Given the description of an element on the screen output the (x, y) to click on. 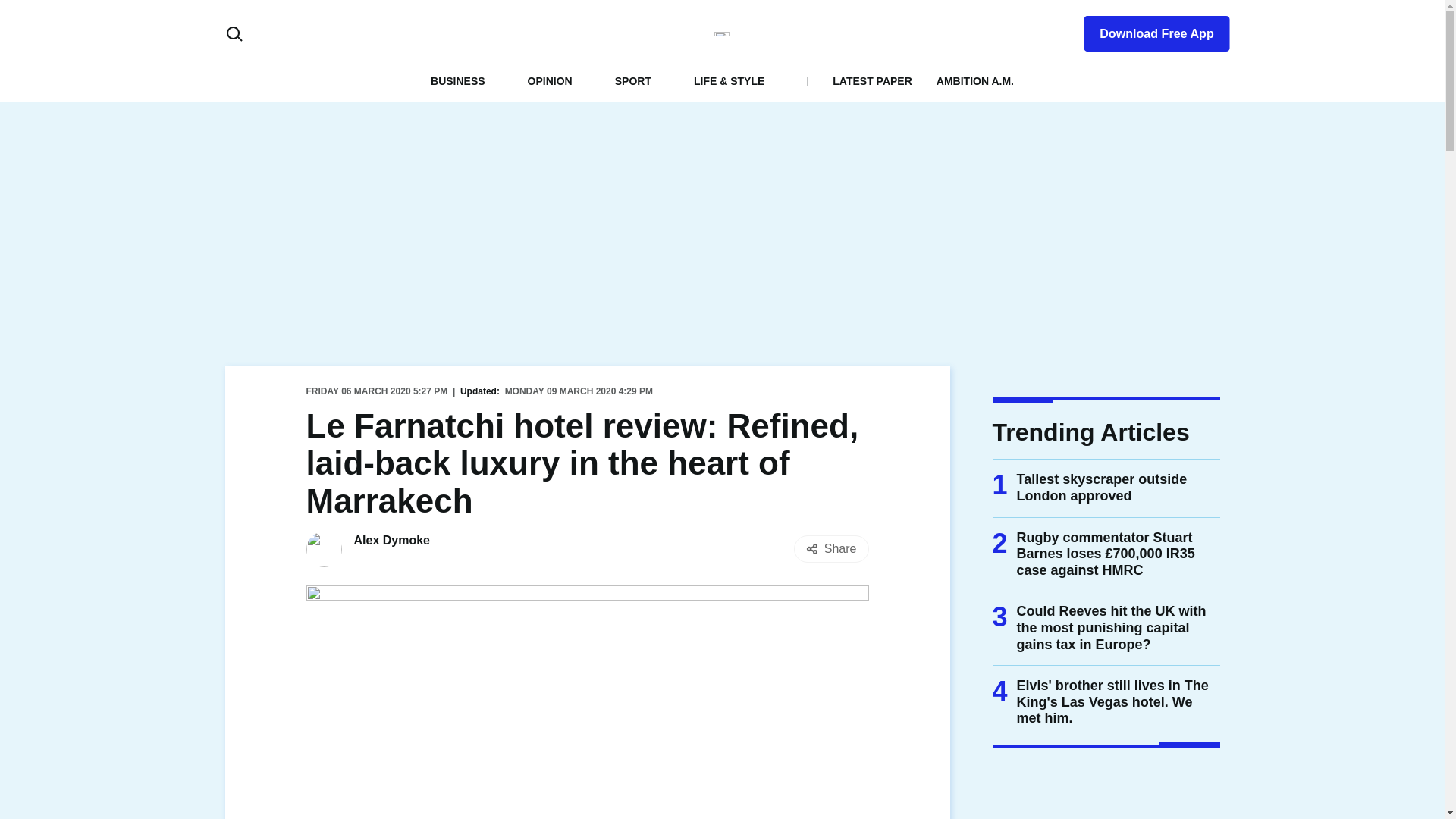
Download Free App (1146, 30)
CityAM (721, 33)
OPINION (549, 80)
BUSINESS (457, 80)
SPORT (632, 80)
